Given the description of an element on the screen output the (x, y) to click on. 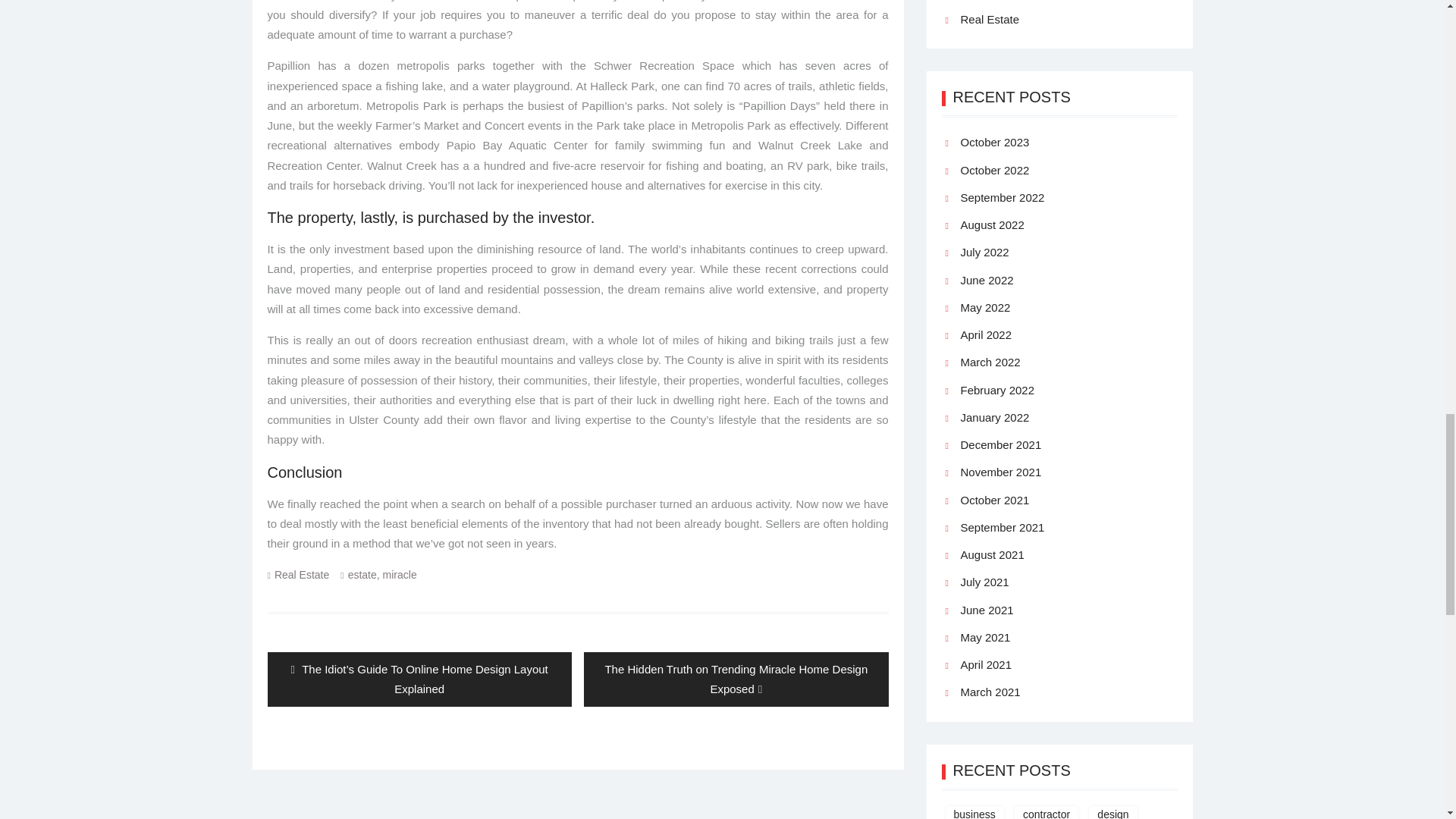
estate (362, 574)
miracle (399, 574)
Real Estate (302, 574)
